Given the description of an element on the screen output the (x, y) to click on. 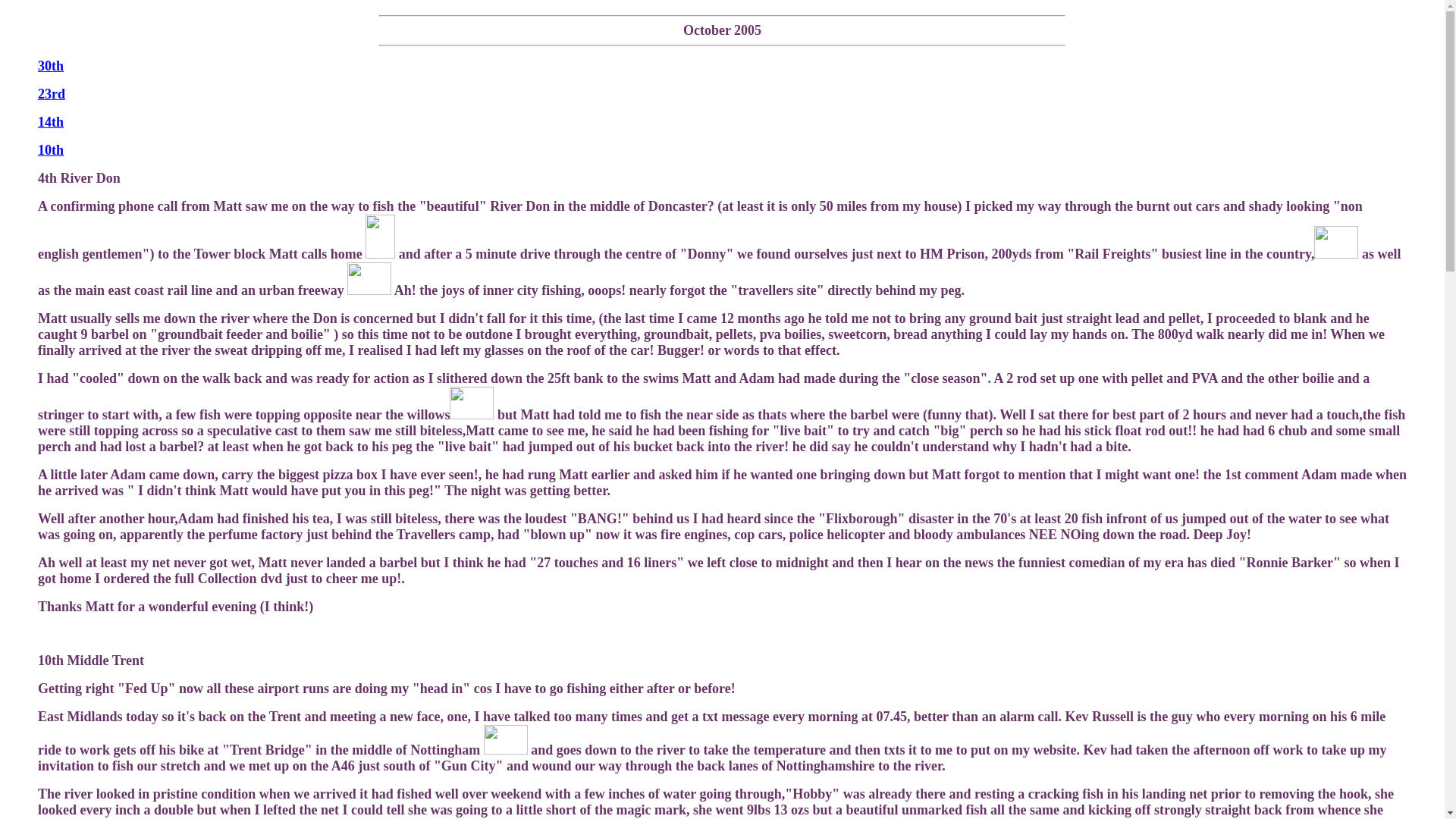
30th (50, 65)
23rd (51, 93)
14th (50, 121)
10th (50, 150)
